Given the description of an element on the screen output the (x, y) to click on. 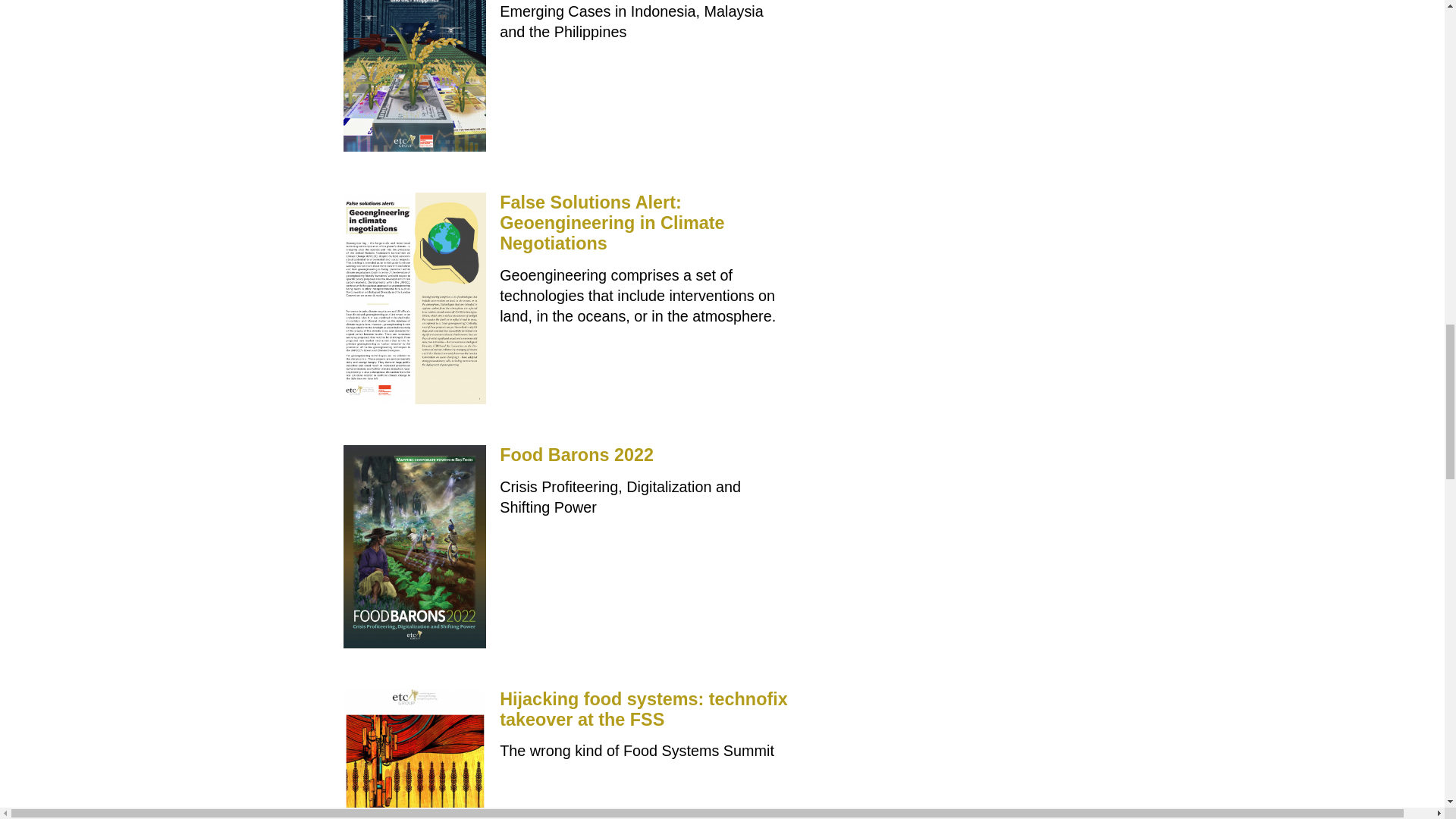
Food Barons 2022 (576, 455)
Food Barons 2022 report - cover art (414, 546)
Hijacking food systems: technofix takeover at the FSS (643, 709)
Communique 118 cover art (414, 754)
